Given the description of an element on the screen output the (x, y) to click on. 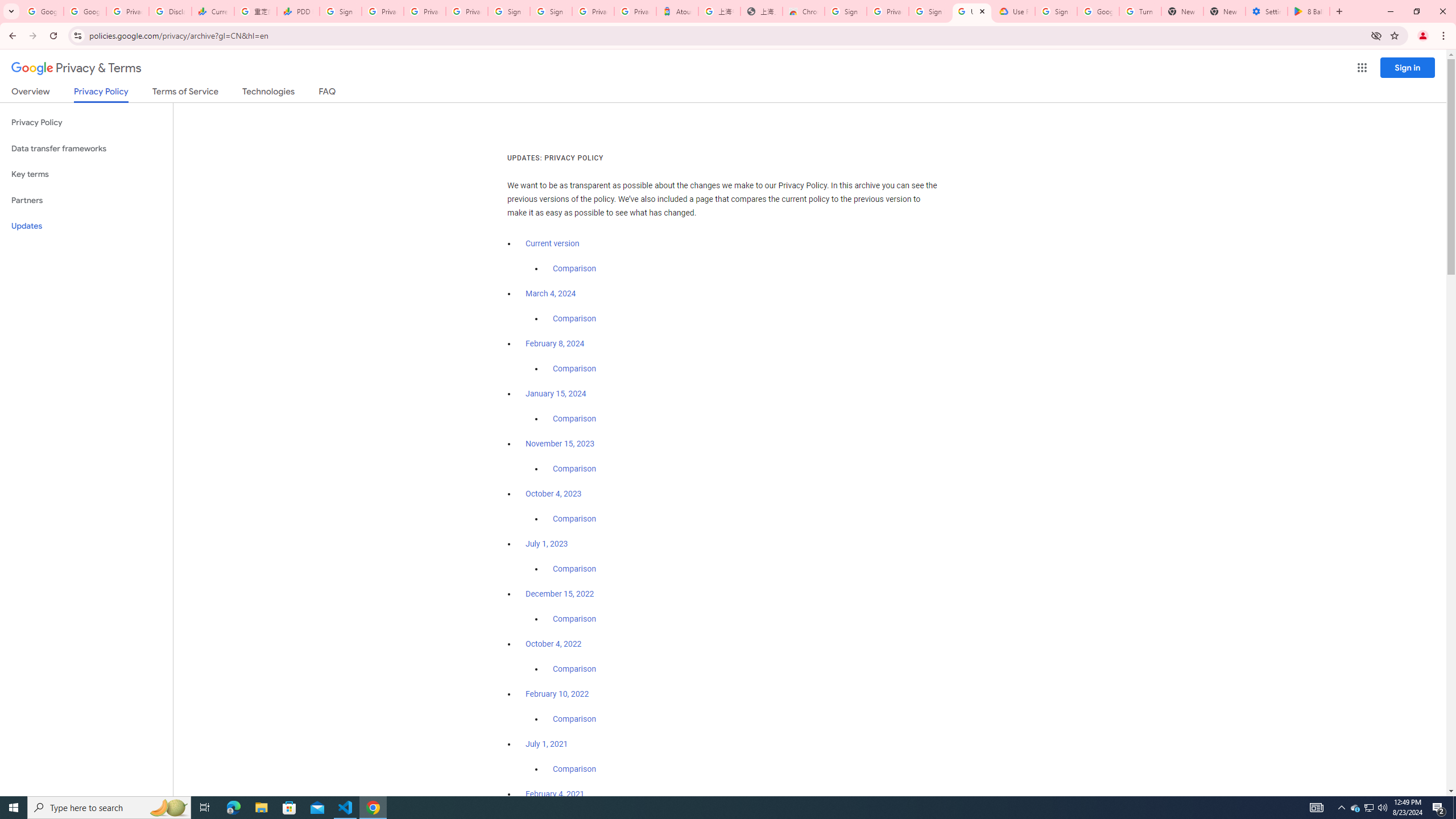
January 15, 2024 (555, 394)
February 4, 2021 (555, 793)
October 4, 2023 (553, 493)
PDD Holdings Inc - ADR (PDD) Price & News - Google Finance (298, 11)
Privacy Checkup (467, 11)
